Given the description of an element on the screen output the (x, y) to click on. 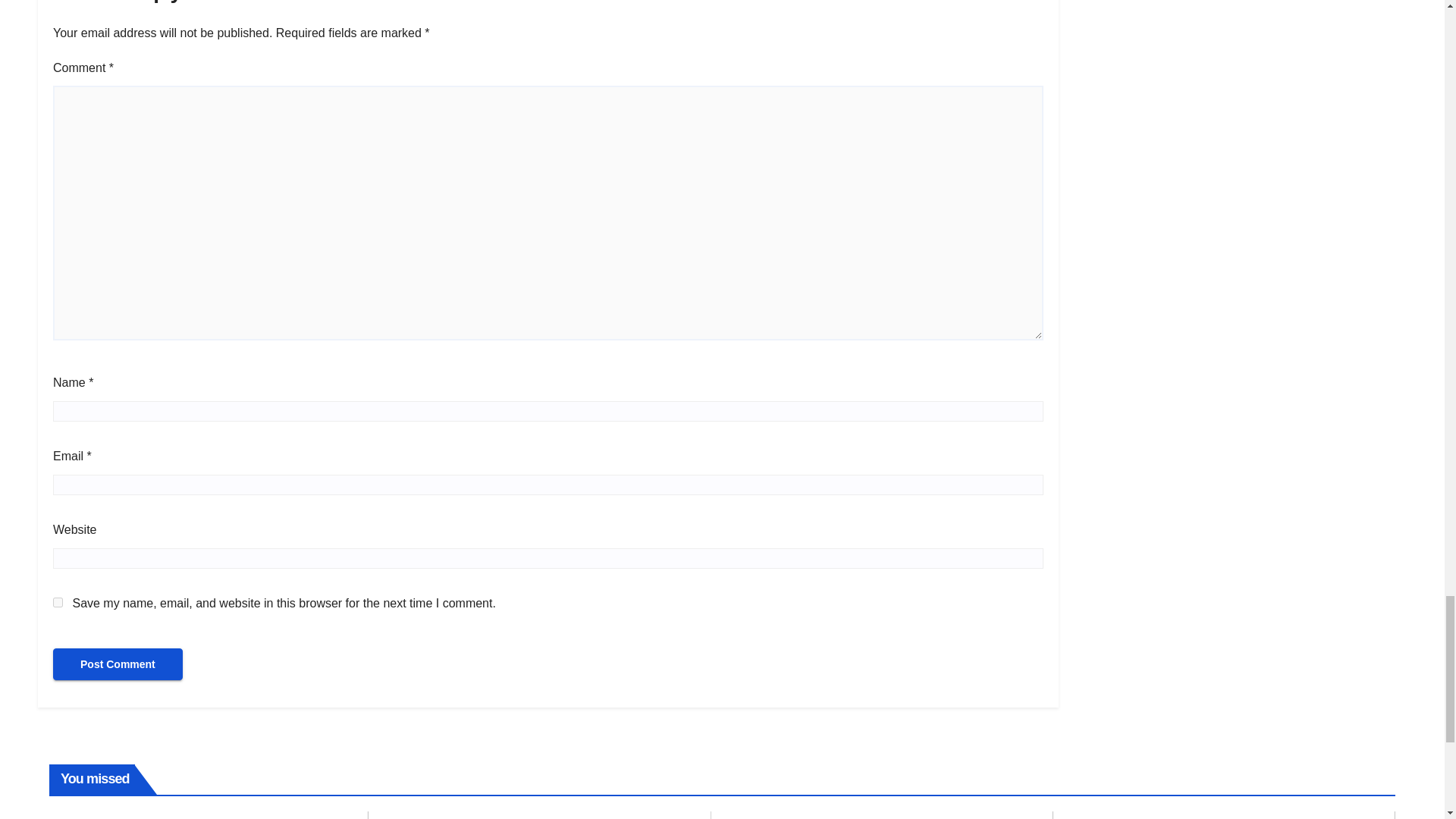
Post Comment (117, 664)
yes (57, 602)
